Given the description of an element on the screen output the (x, y) to click on. 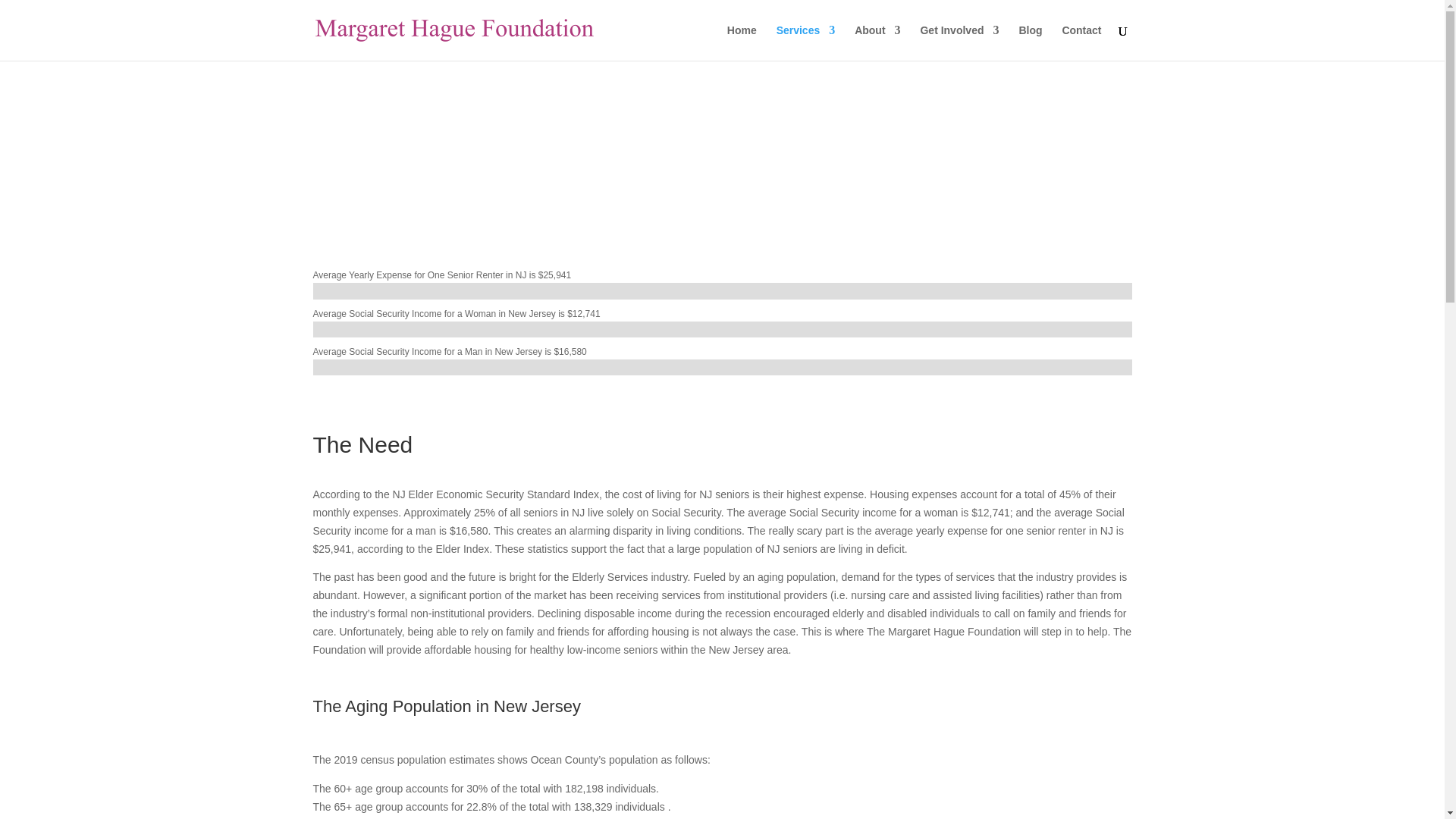
Contact (1080, 42)
Get Involved (959, 42)
About (876, 42)
Services (805, 42)
